Given the description of an element on the screen output the (x, y) to click on. 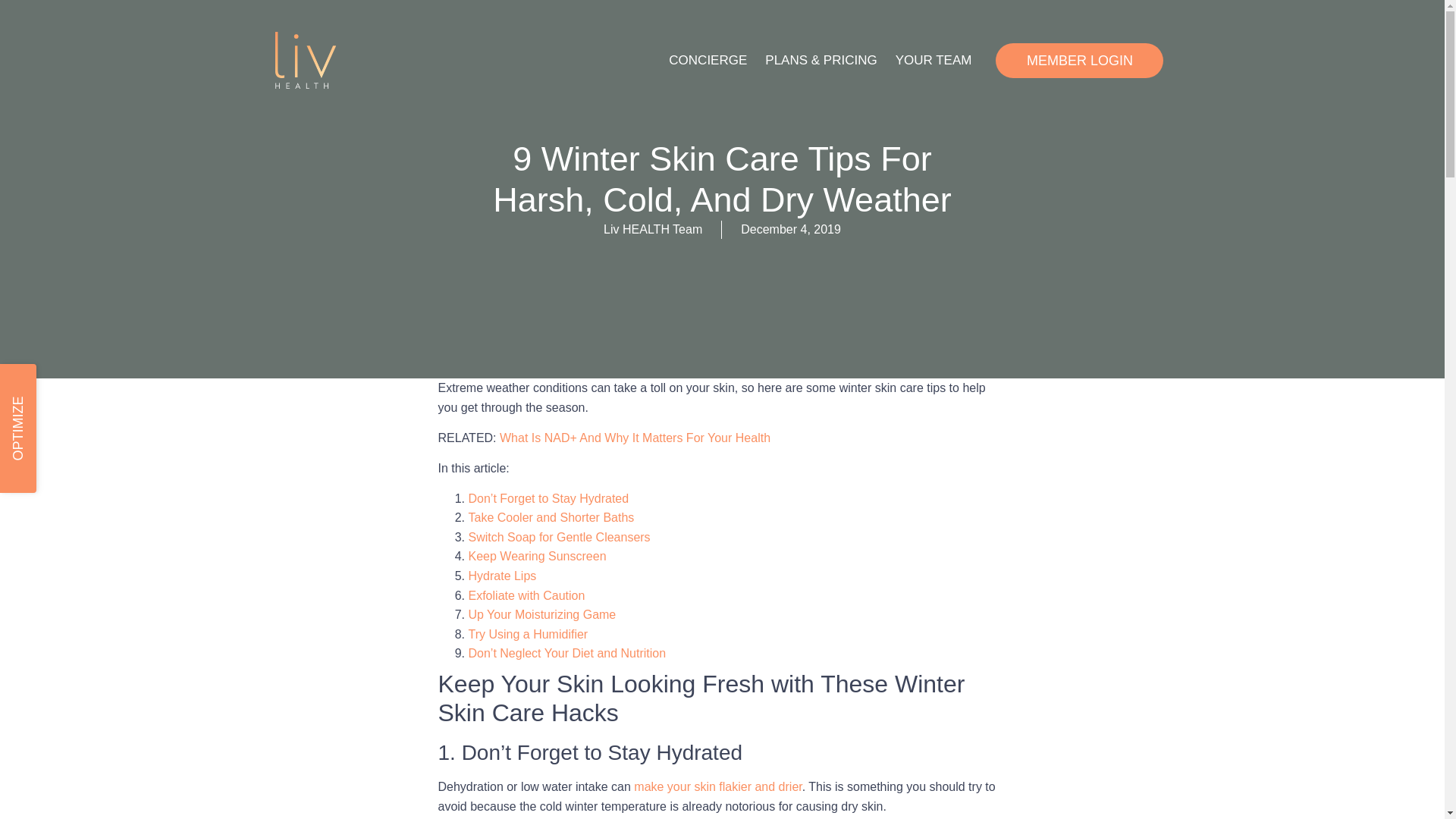
OPTIMIZE (64, 381)
Keep Wearing Sunscreen (537, 555)
Try Using a Humidifier (528, 634)
Switch Soap for Gentle Cleansers (559, 536)
CONCIERGE (707, 59)
MEMBER LOGIN (1079, 59)
Exfoliate with Caution (526, 594)
Take Cooler and Shorter Baths (551, 517)
make your skin flakier and drier (717, 786)
Up Your Moisturizing Game (541, 614)
YOUR TEAM (933, 59)
Hydrate Lips (502, 575)
